Given the description of an element on the screen output the (x, y) to click on. 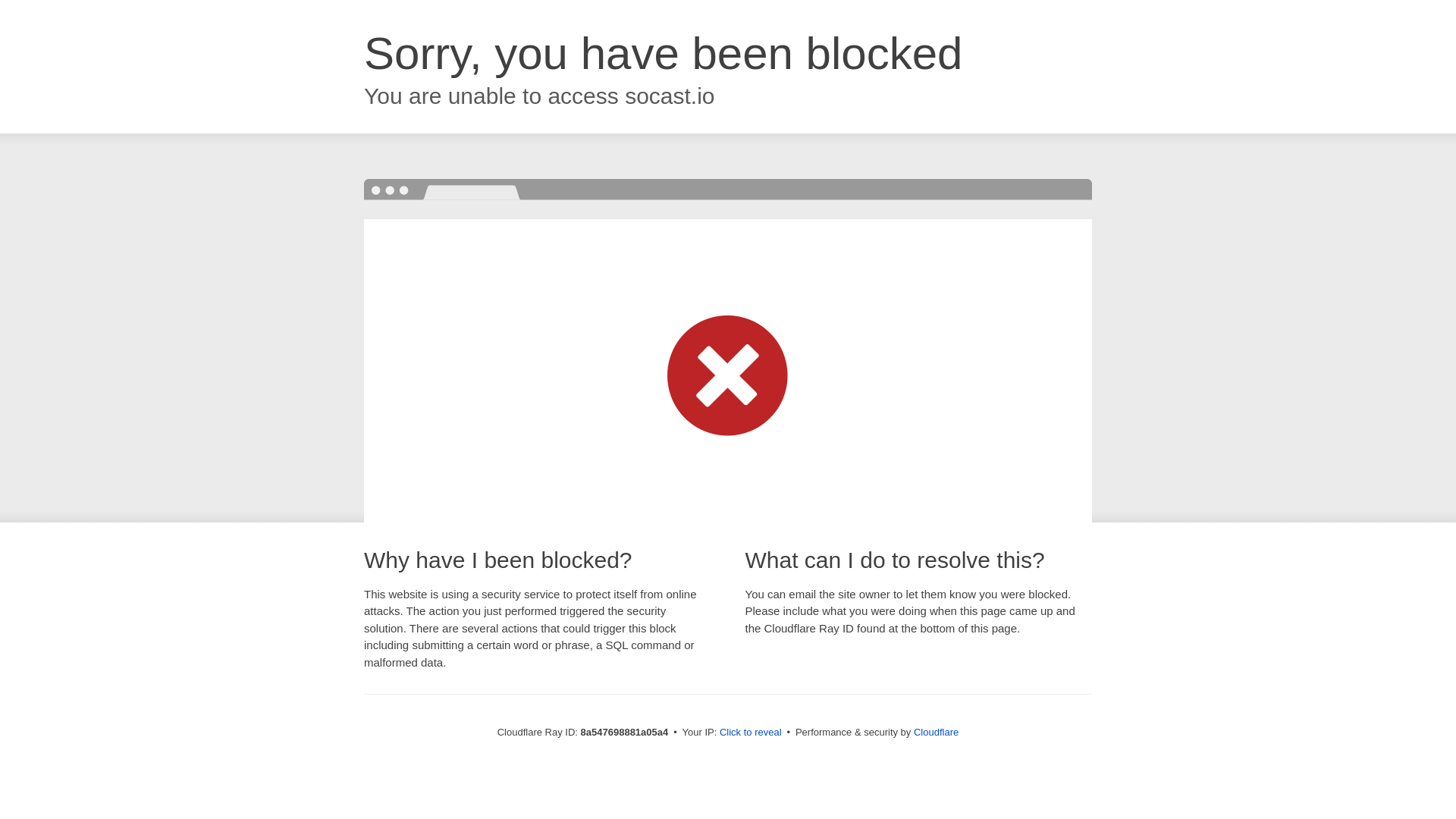
Cloudflare (936, 731)
Click to reveal (750, 732)
